Given the description of an element on the screen output the (x, y) to click on. 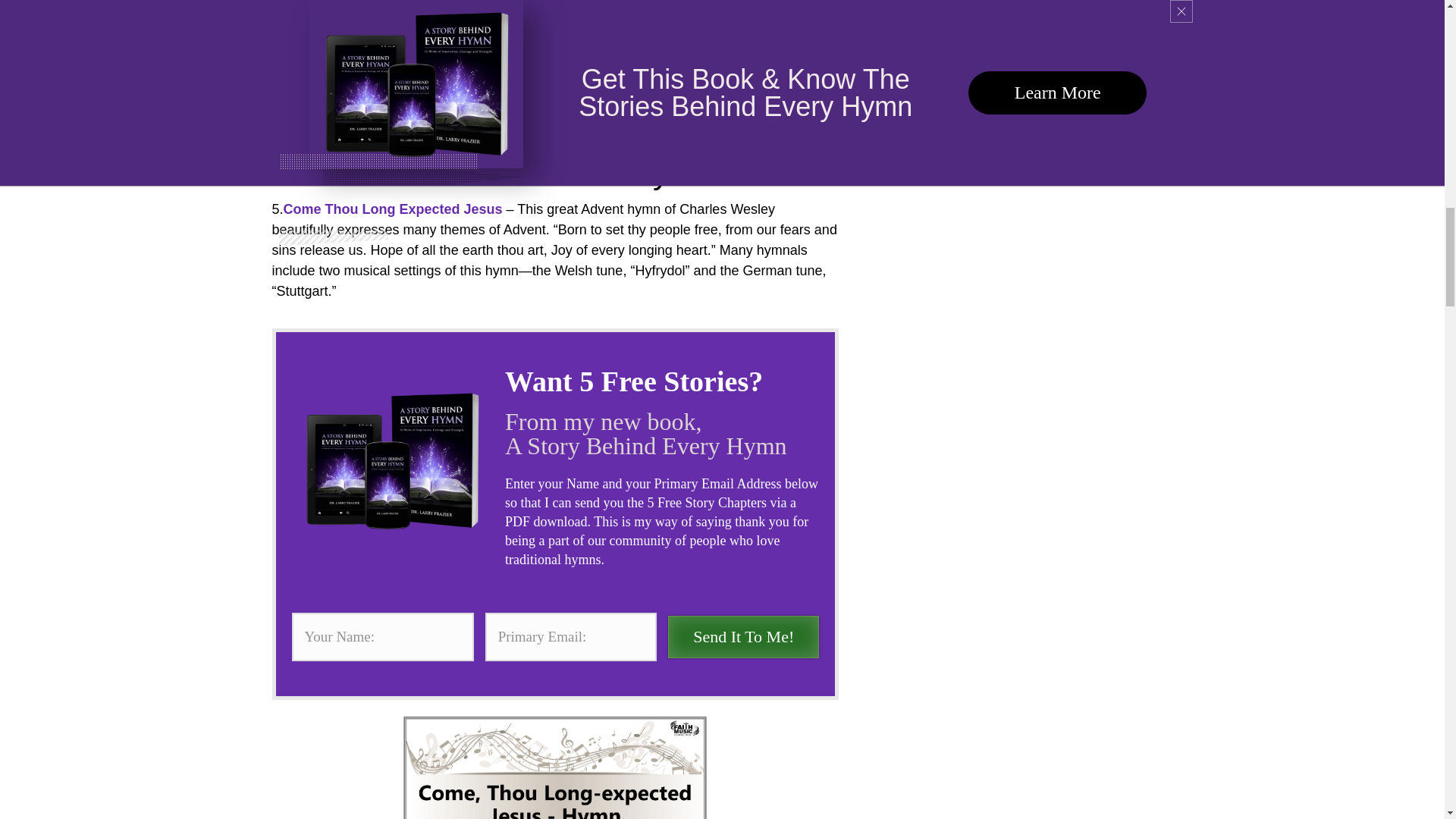
Send It To Me! (743, 636)
Come, Thou Long-expected Jesus Hymn (554, 767)
